Given the description of an element on the screen output the (x, y) to click on. 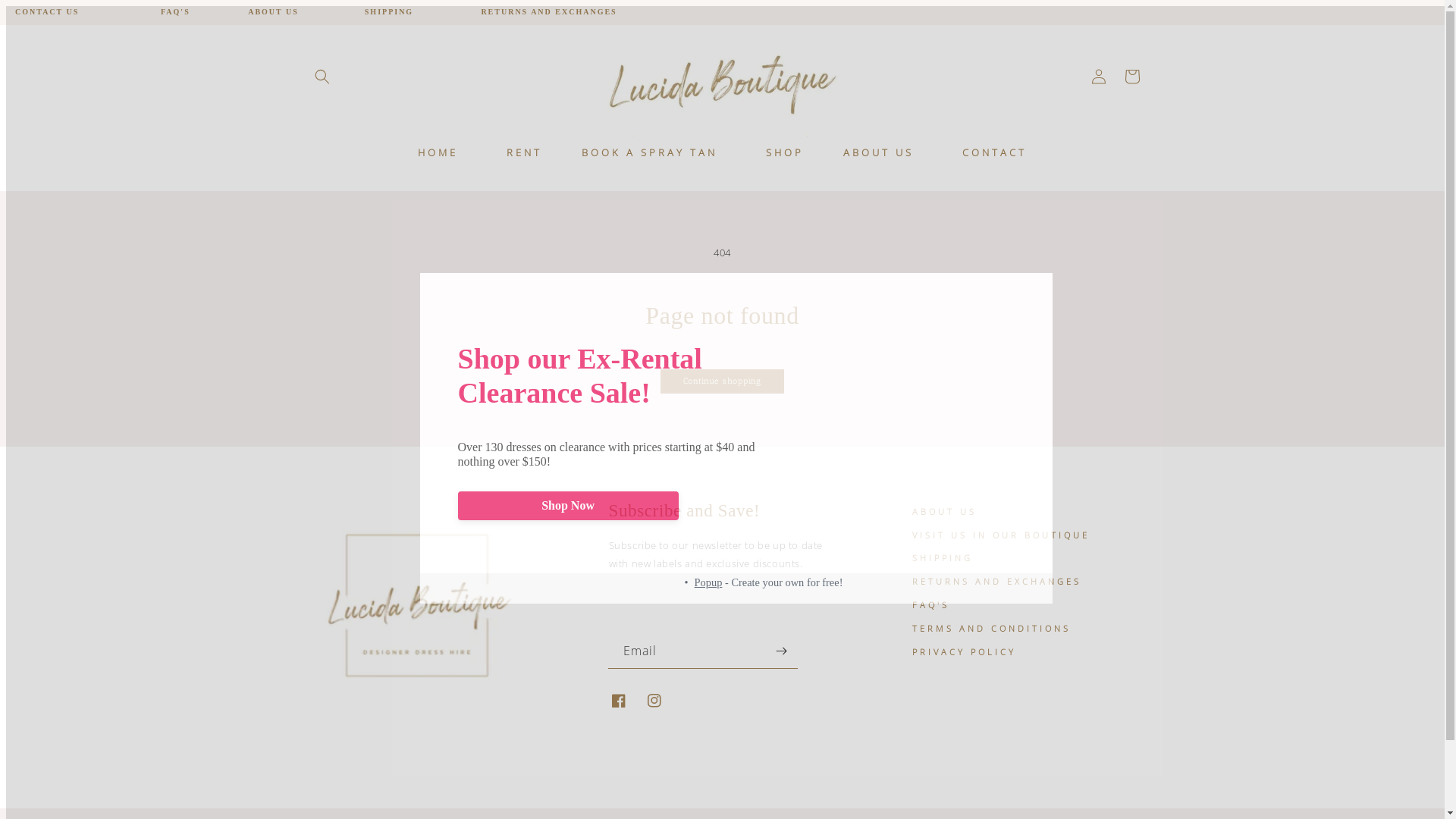
Log in Element type: text (1097, 76)
TERMS AND CONDITIONS Element type: text (990, 628)
Instagram Element type: text (658, 700)
SHIPPING Element type: text (941, 557)
VISIT US IN OUR BOUTIQUE Element type: text (999, 535)
FAQ'S Element type: text (175, 12)
Cart Element type: text (1131, 76)
BOOK A SPRAY TAN Element type: text (649, 152)
ABOUT US Element type: text (943, 513)
PRIVACY POLICY Element type: text (963, 651)
Continue shopping Element type: text (722, 381)
HOME Element type: text (437, 152)
ABOUT US Element type: text (878, 152)
FAQ'S Element type: text (929, 604)
ABOUT US Element type: text (272, 12)
Facebook Element type: text (622, 700)
CONTACT Element type: text (994, 152)
RETURNS AND EXCHANGES Element type: text (995, 581)
RETURNS AND EXCHANGES Element type: text (548, 12)
SHIPPING Element type: text (388, 12)
